Given the description of an element on the screen output the (x, y) to click on. 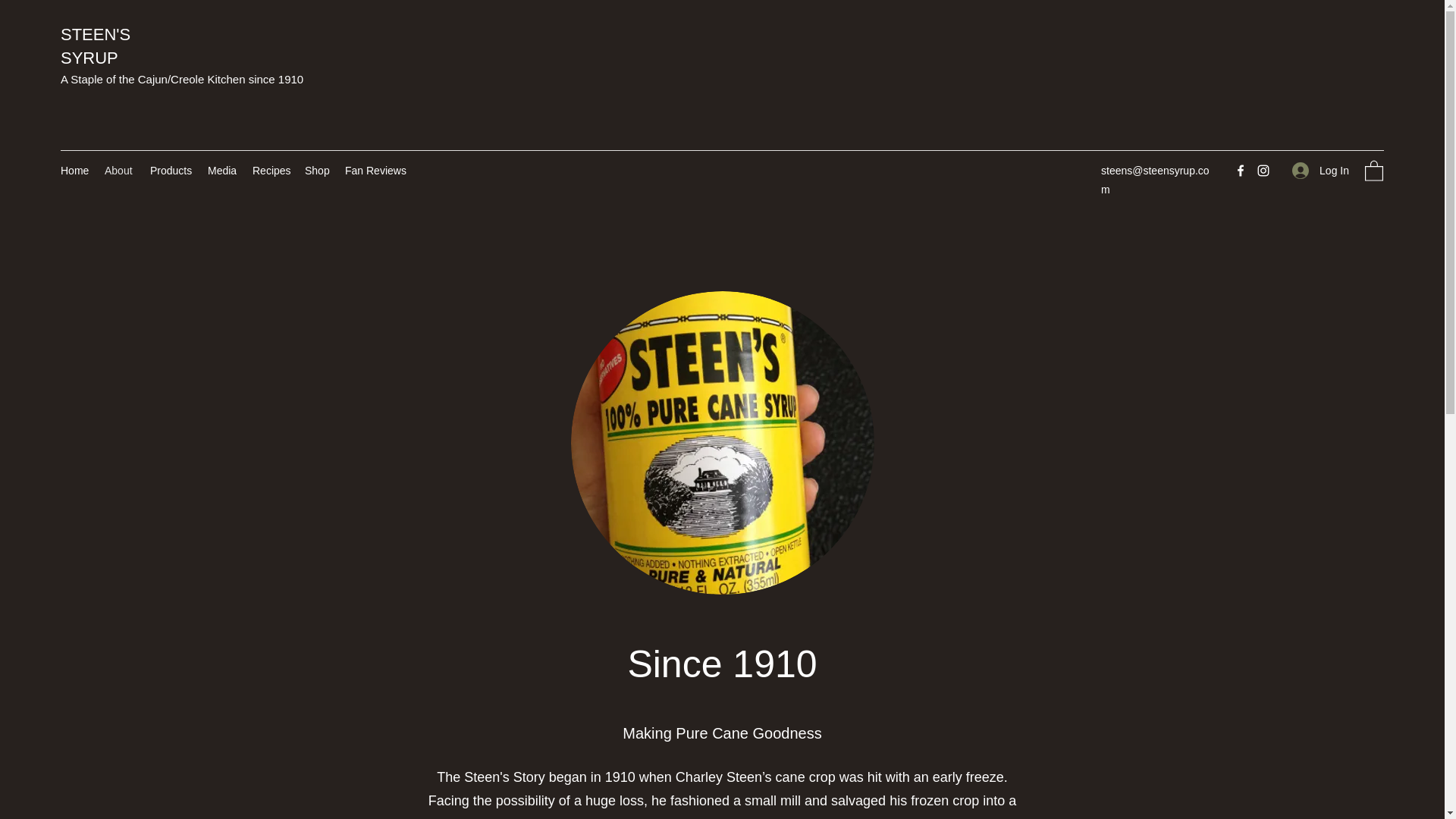
Log In (1320, 170)
Media (222, 169)
Recipes (270, 169)
About (119, 169)
Shop (317, 169)
Products (171, 169)
Fan Reviews (373, 169)
Home (74, 169)
